Given the description of an element on the screen output the (x, y) to click on. 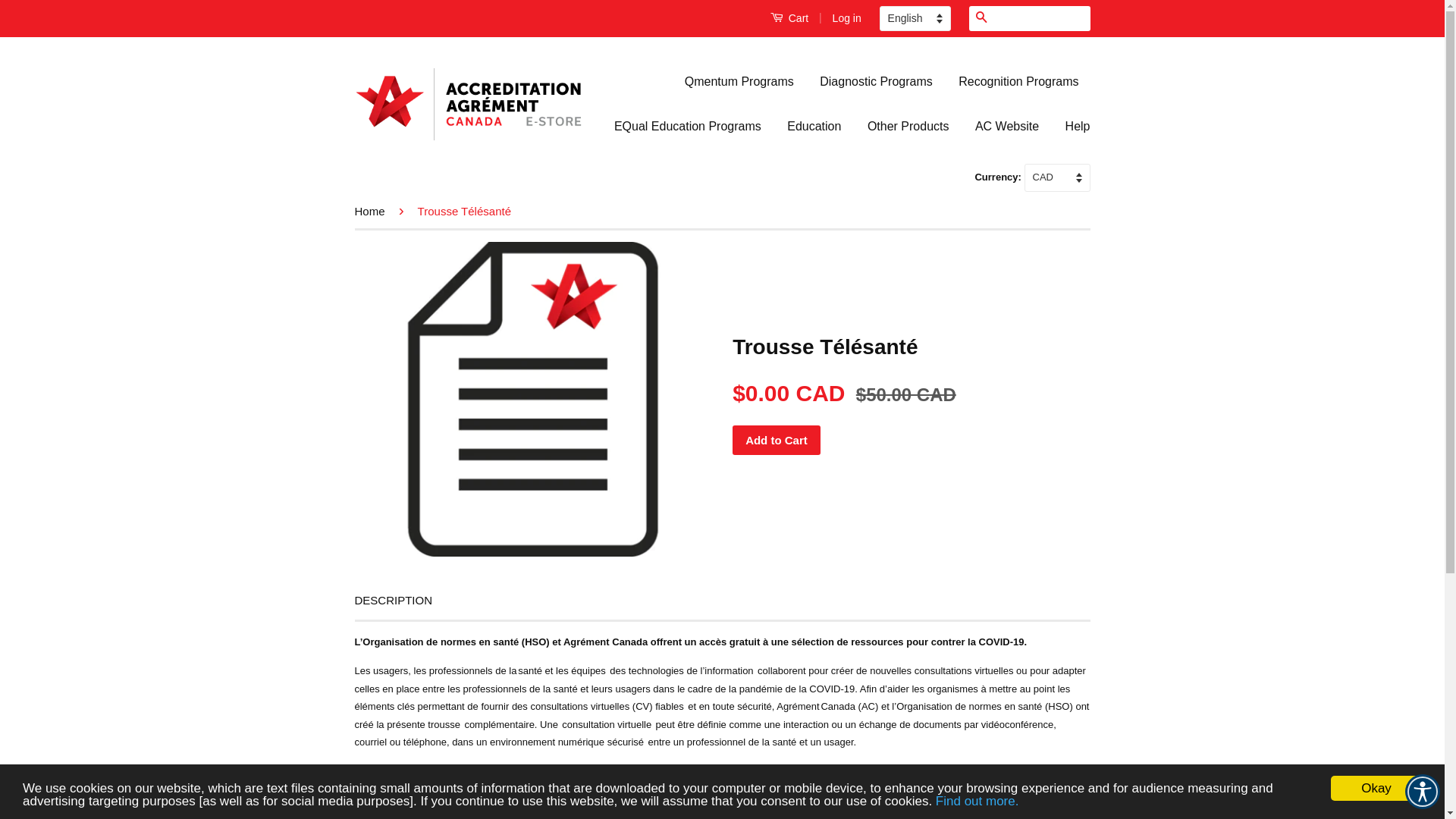
Find out more. Element type: text (977, 800)
Add to Cart Element type: text (776, 440)
DESCRIPTION Element type: text (393, 600)
Search Element type: text (981, 18)
Home Element type: text (372, 210)
Recognition Programs Element type: text (1018, 81)
Okay Element type: text (1375, 787)
Qmentum Programs Element type: text (744, 81)
EQual Education Programs Element type: text (687, 126)
Diagnostic Programs Element type: text (876, 81)
AC Website Element type: text (1006, 126)
Cart Element type: text (789, 17)
Other Products Element type: text (908, 126)
Help Element type: text (1072, 126)
Education Element type: text (813, 126)
Log in Element type: text (846, 18)
